Given the description of an element on the screen output the (x, y) to click on. 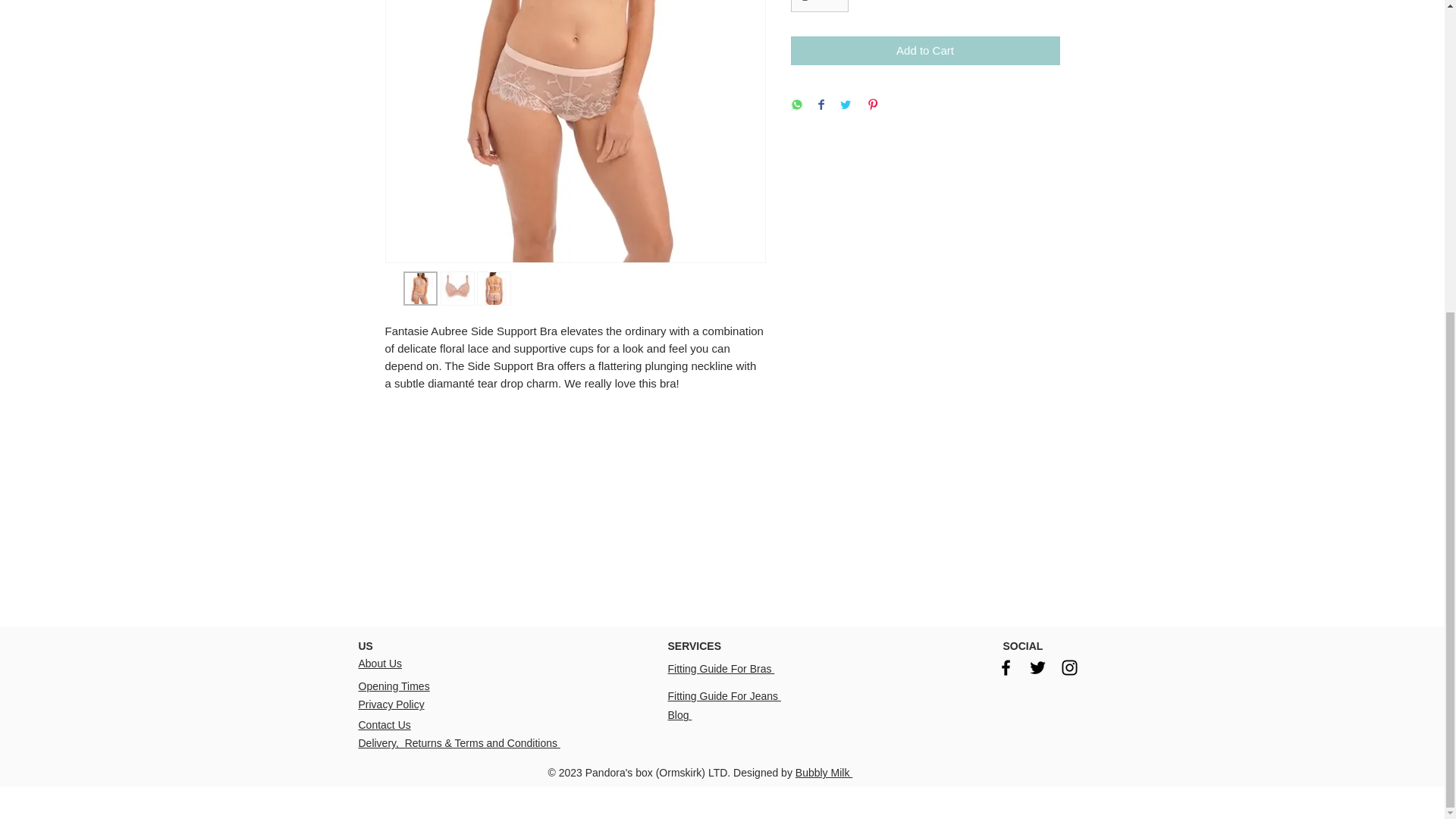
1 (818, 6)
Add to Cart (924, 51)
Contact Us (384, 725)
About Us (379, 663)
Blog  (678, 715)
Opening Times (393, 686)
Bubbly Milk  (822, 772)
Fitting Guide For Bras  (720, 668)
Fitting Guide For Jeans  (723, 695)
Privacy Policy (390, 704)
